Given the description of an element on the screen output the (x, y) to click on. 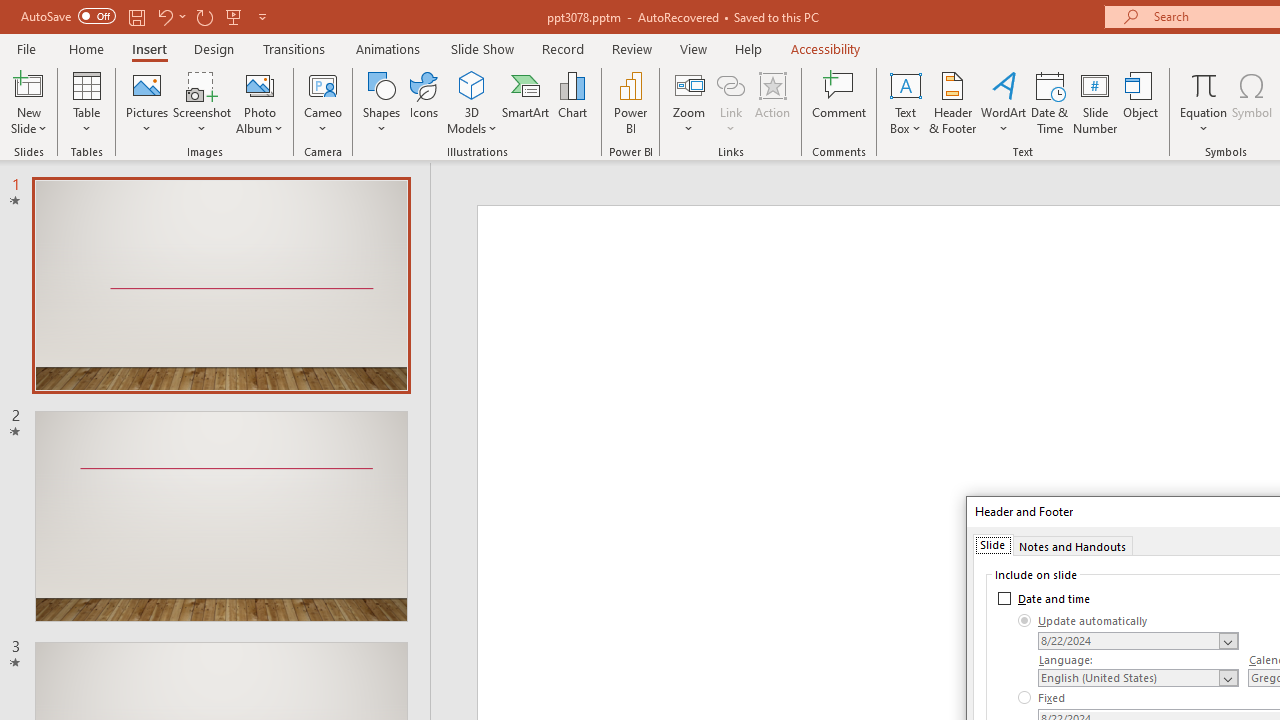
Chart... (572, 102)
